Given the description of an element on the screen output the (x, y) to click on. 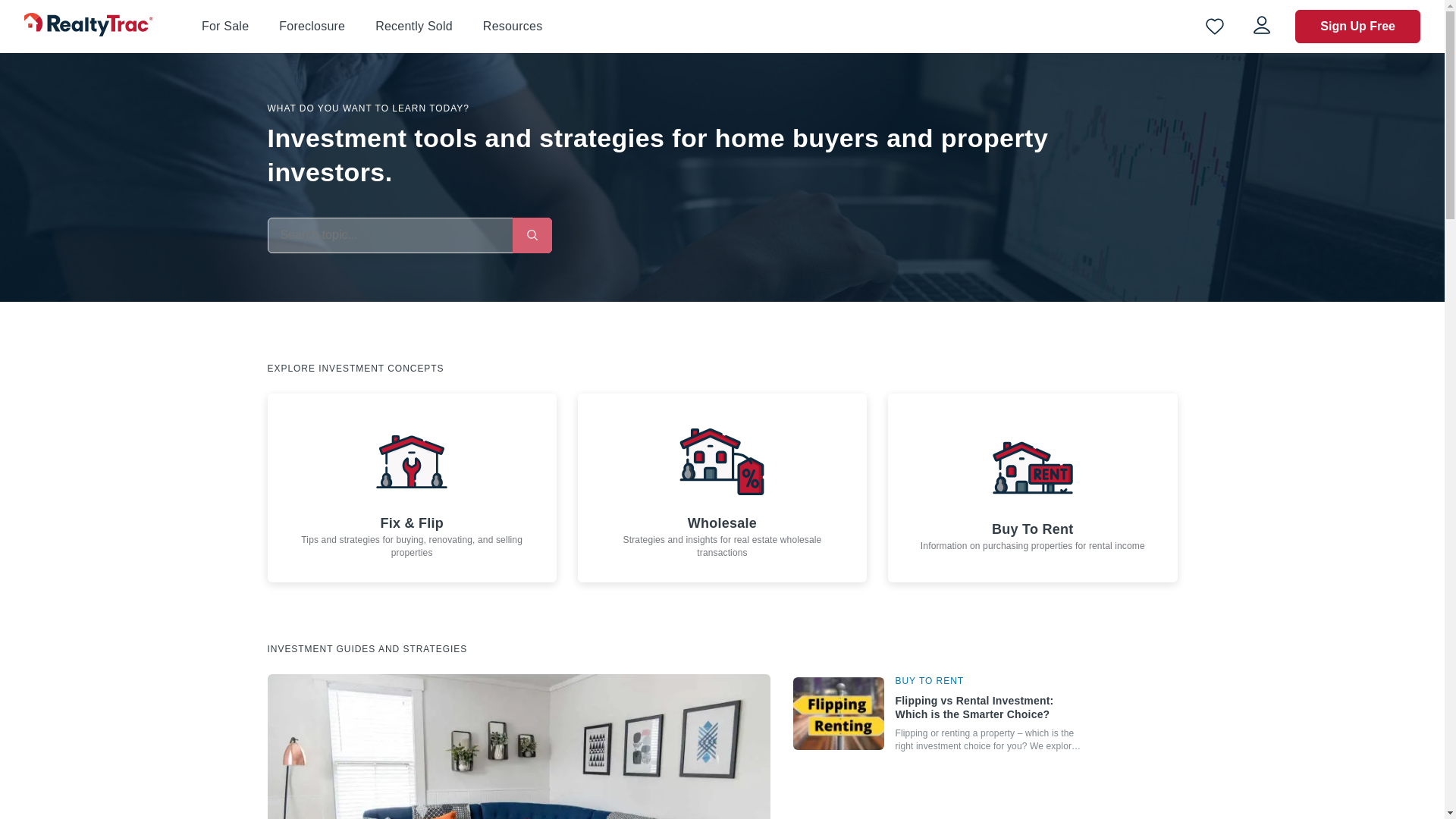
Resources (513, 26)
Recently Sold (413, 26)
Foreclosure (312, 26)
For Sale (225, 26)
Sign Up Free (1358, 26)
